Given the description of an element on the screen output the (x, y) to click on. 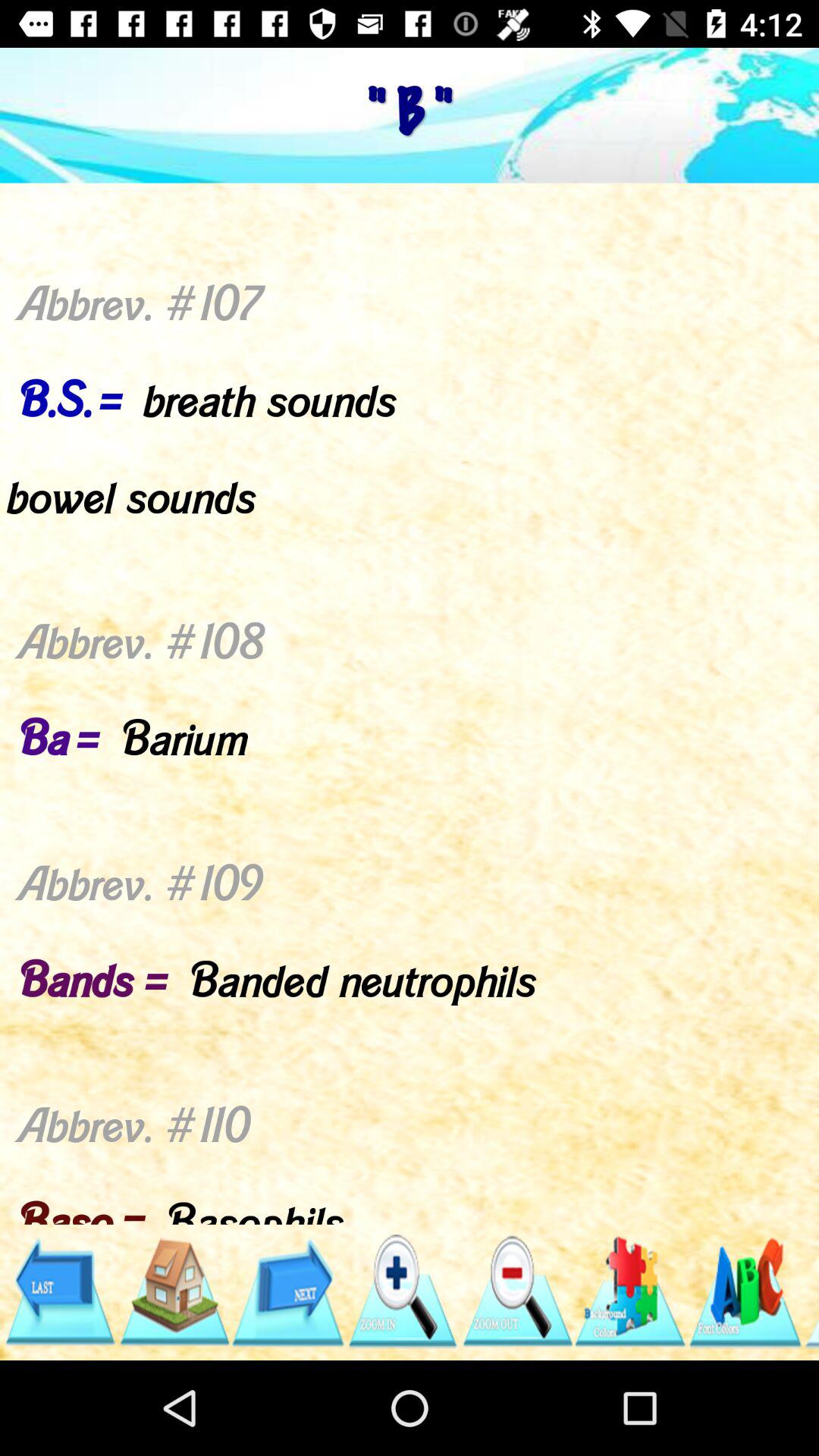
abbreviation (630, 1291)
